Given the description of an element on the screen output the (x, y) to click on. 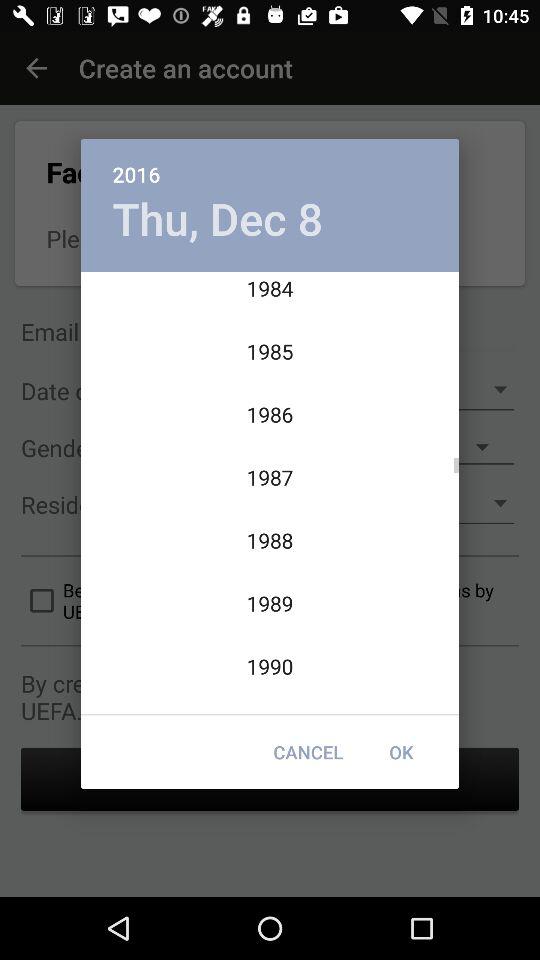
scroll to cancel item (308, 751)
